Given the description of an element on the screen output the (x, y) to click on. 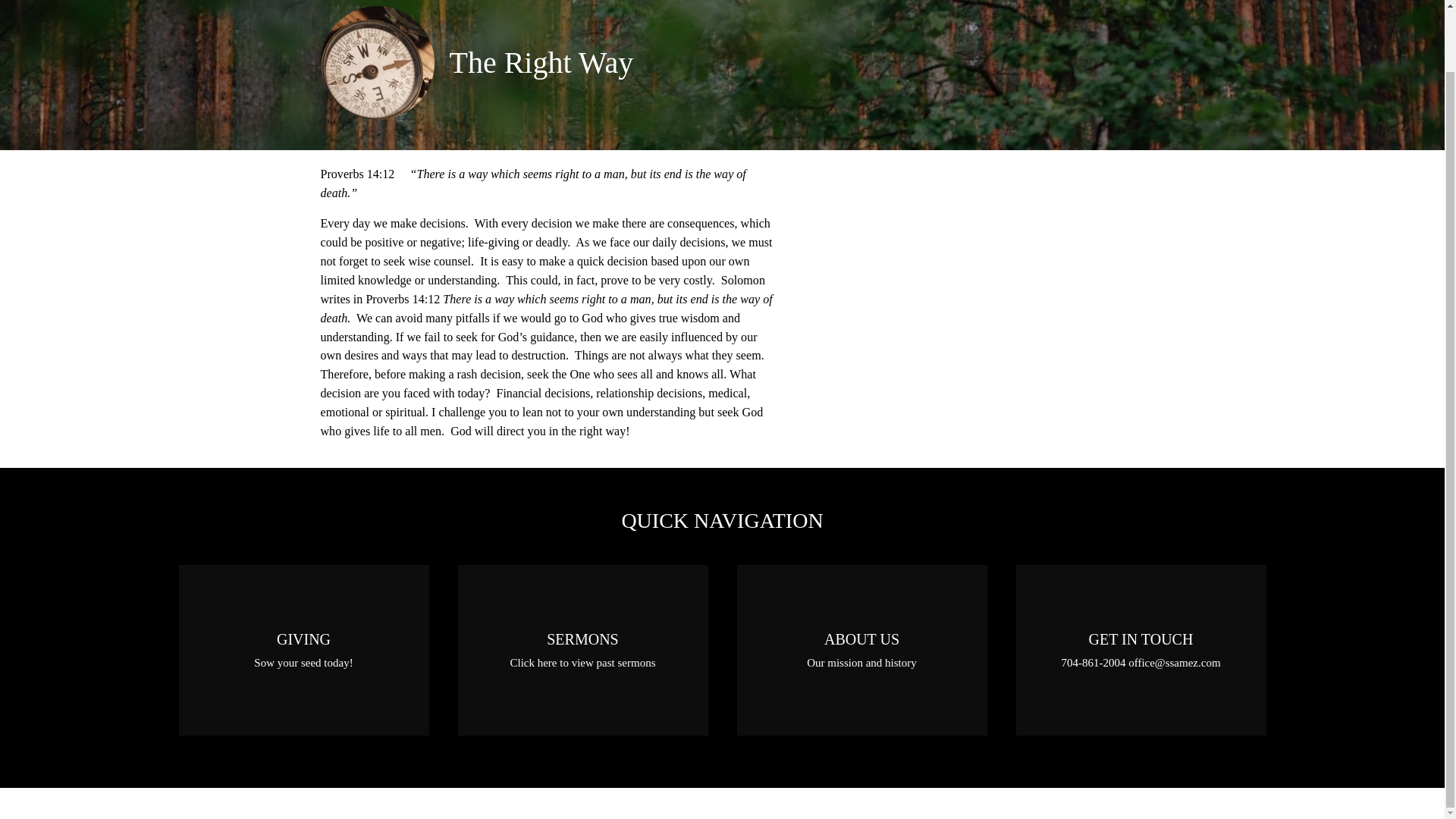
GIVING (304, 649)
SERMONS (582, 649)
GET IN TOUCH (1141, 649)
ABOUT US (861, 649)
